Given the description of an element on the screen output the (x, y) to click on. 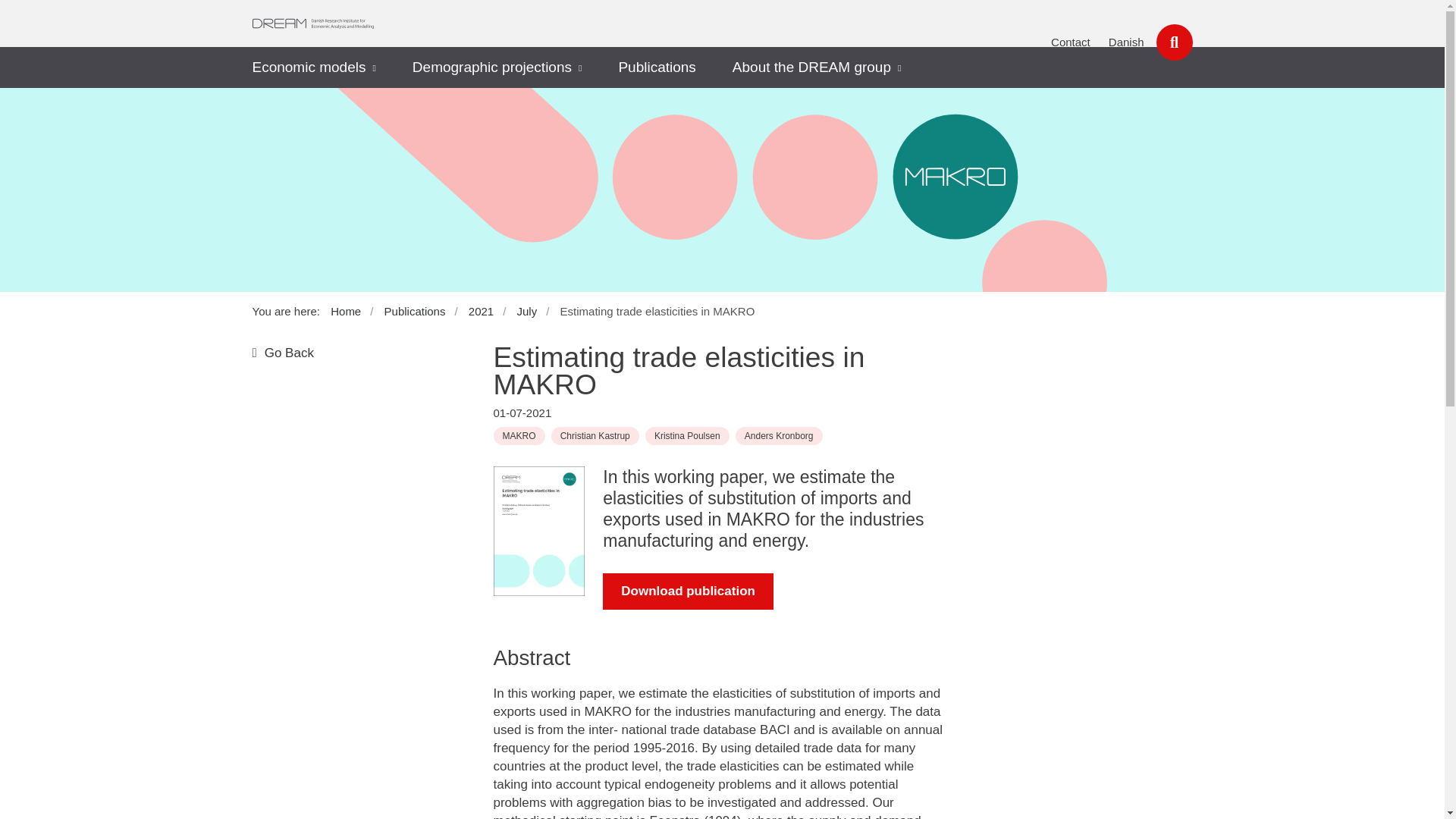
Publications (421, 310)
Economic models (308, 66)
Contact (1070, 42)
About the DREAM group (811, 66)
Demographic projections (492, 66)
Link to introduction to the DREAM group (811, 66)
Link to introduction to our demographic projections (492, 66)
July (533, 310)
2021 (487, 310)
Link to introduction to our economic models (308, 66)
Publications (656, 66)
Home (351, 310)
Danish (1126, 42)
